Given the description of an element on the screen output the (x, y) to click on. 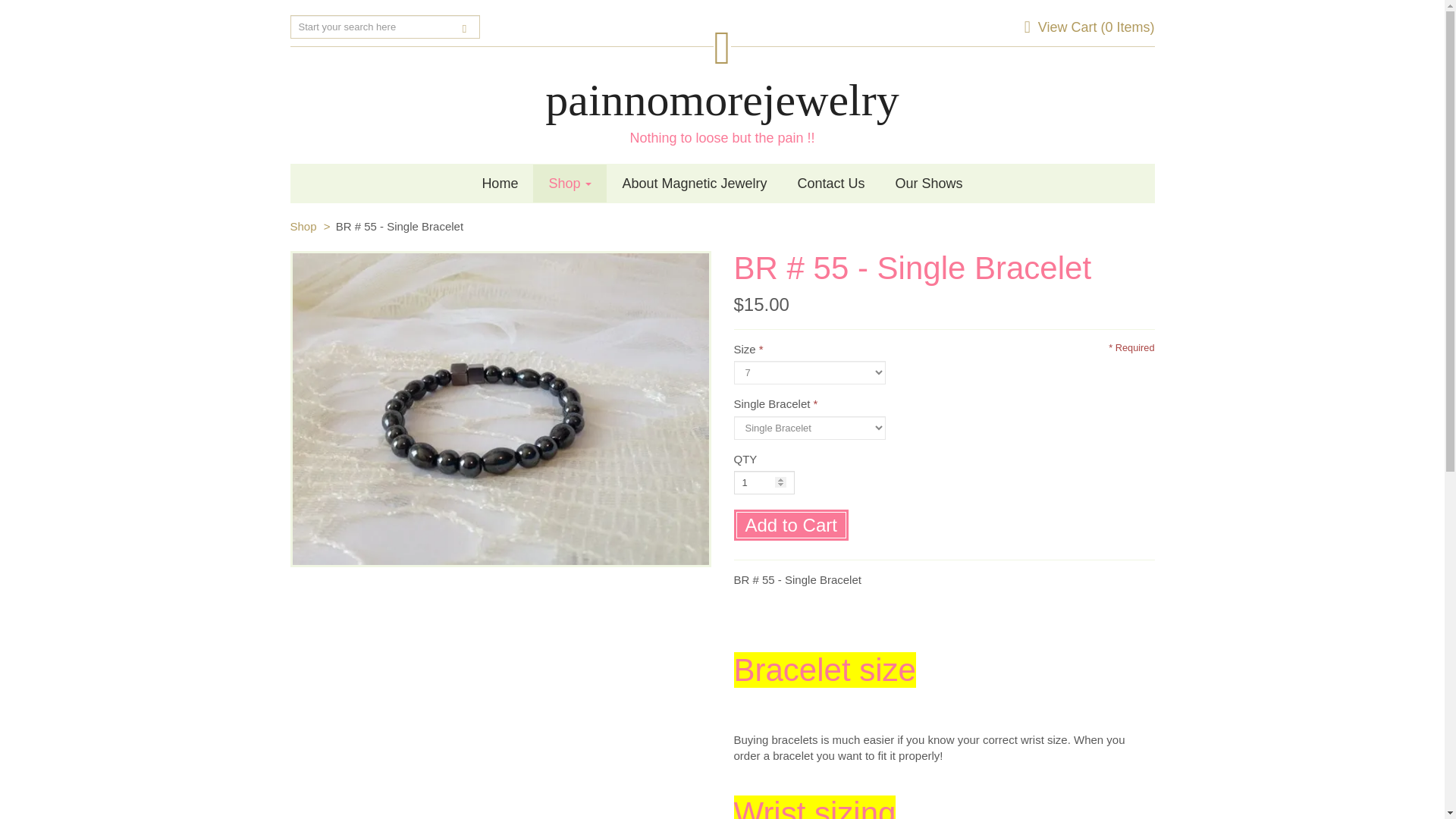
Add to Cart (790, 524)
Home (498, 183)
Shop (569, 183)
painnomorejewelry (721, 100)
Contact Us (831, 183)
About Magnetic Jewelry (694, 183)
Our Shows (929, 183)
Shop (302, 226)
Add to Cart (790, 524)
1 (763, 482)
